Given the description of an element on the screen output the (x, y) to click on. 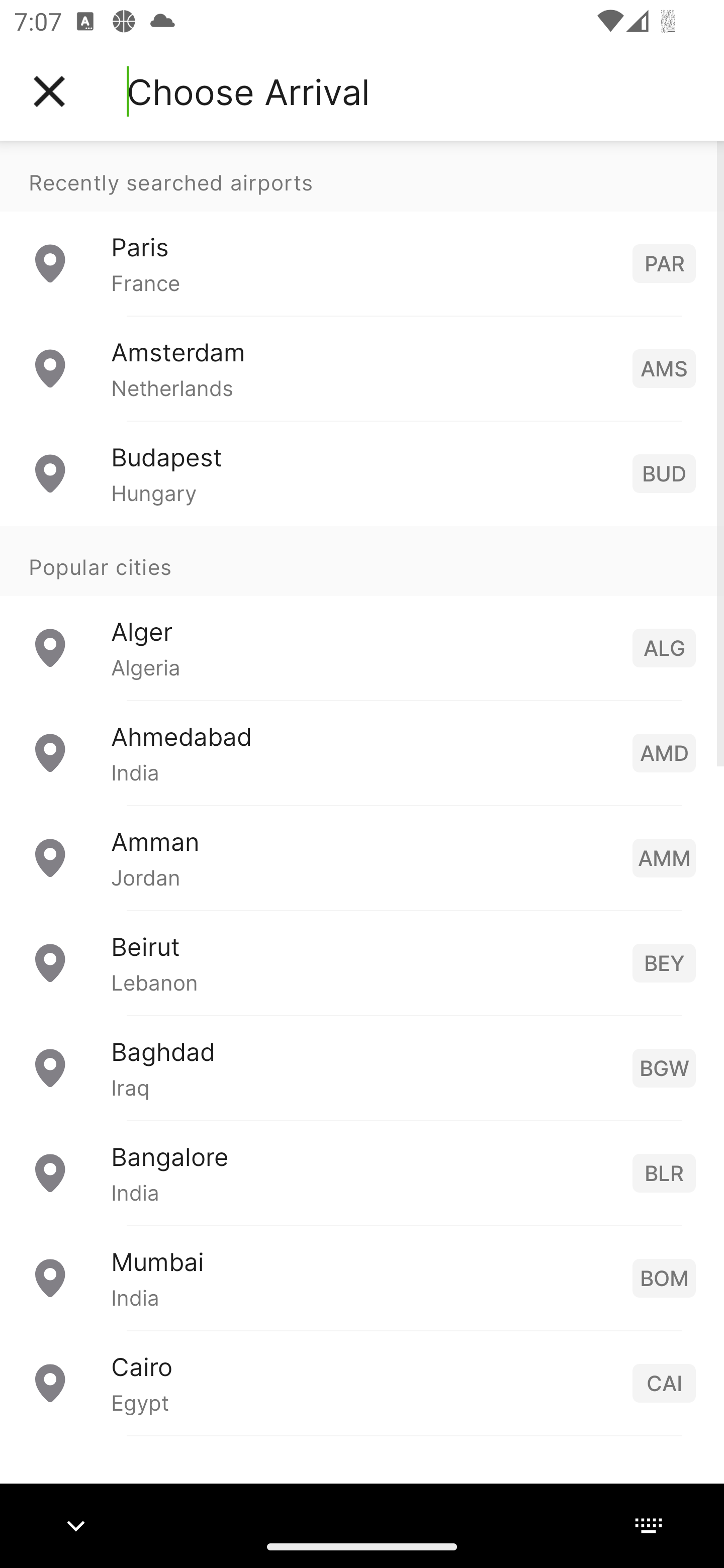
Choose Arrival (247, 91)
Recently searched airports Paris France PAR (362, 228)
Recently searched airports (362, 176)
Amsterdam Netherlands AMS (362, 367)
Budapest Hungary BUD (362, 472)
Popular cities Alger Algeria ALG (362, 612)
Popular cities (362, 560)
Ahmedabad India AMD (362, 751)
Amman Jordan AMM (362, 856)
Beirut Lebanon BEY (362, 961)
Baghdad Iraq BGW (362, 1066)
Bangalore India BLR (362, 1171)
Mumbai India BOM (362, 1276)
Cairo Egypt CAI (362, 1381)
